Given the description of an element on the screen output the (x, y) to click on. 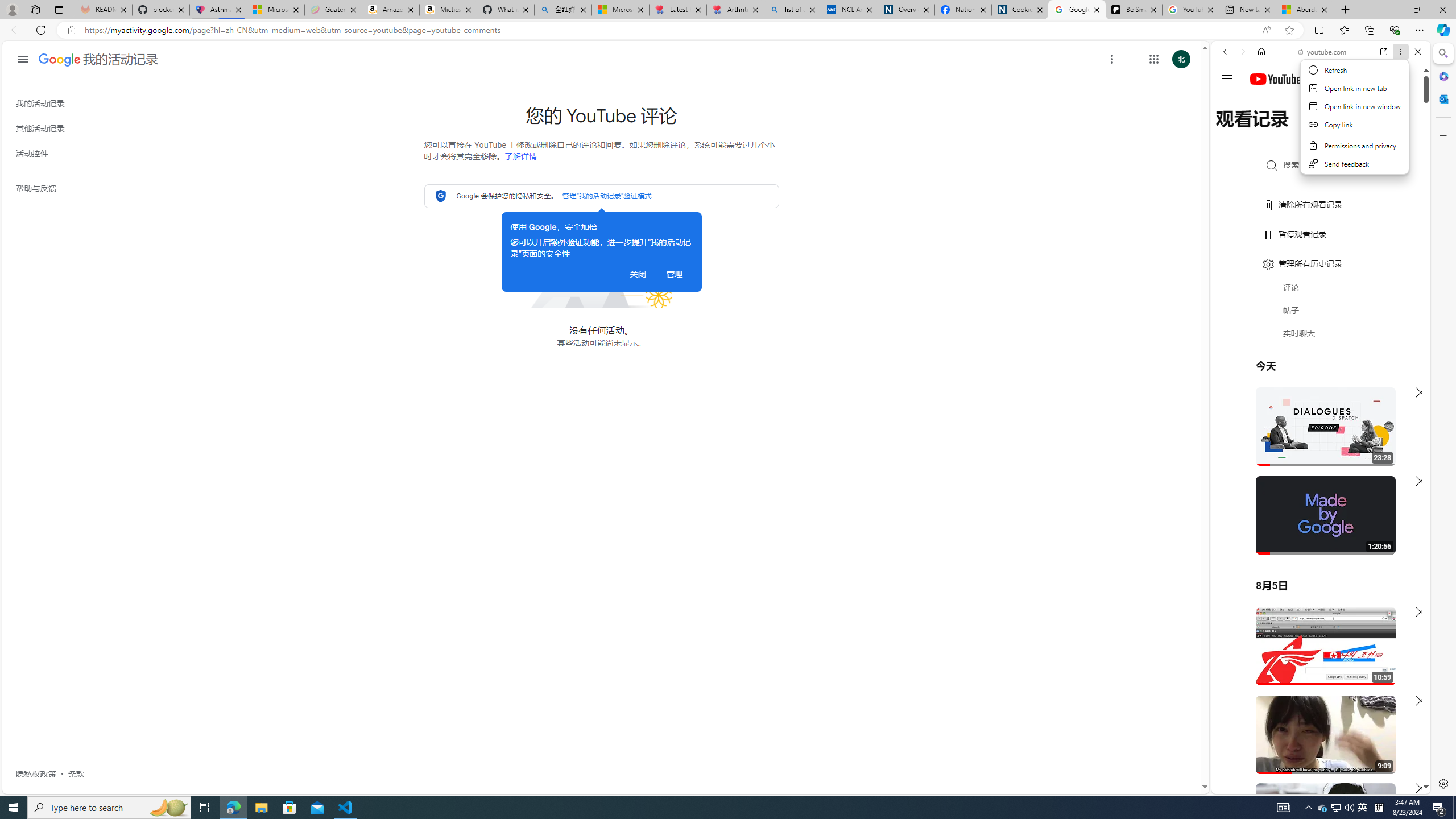
Search the web (1326, 78)
Asthma Inhalers: Names and Types (217, 9)
Google (1320, 281)
Web scope (1230, 102)
#you (1320, 253)
